Given the description of an element on the screen output the (x, y) to click on. 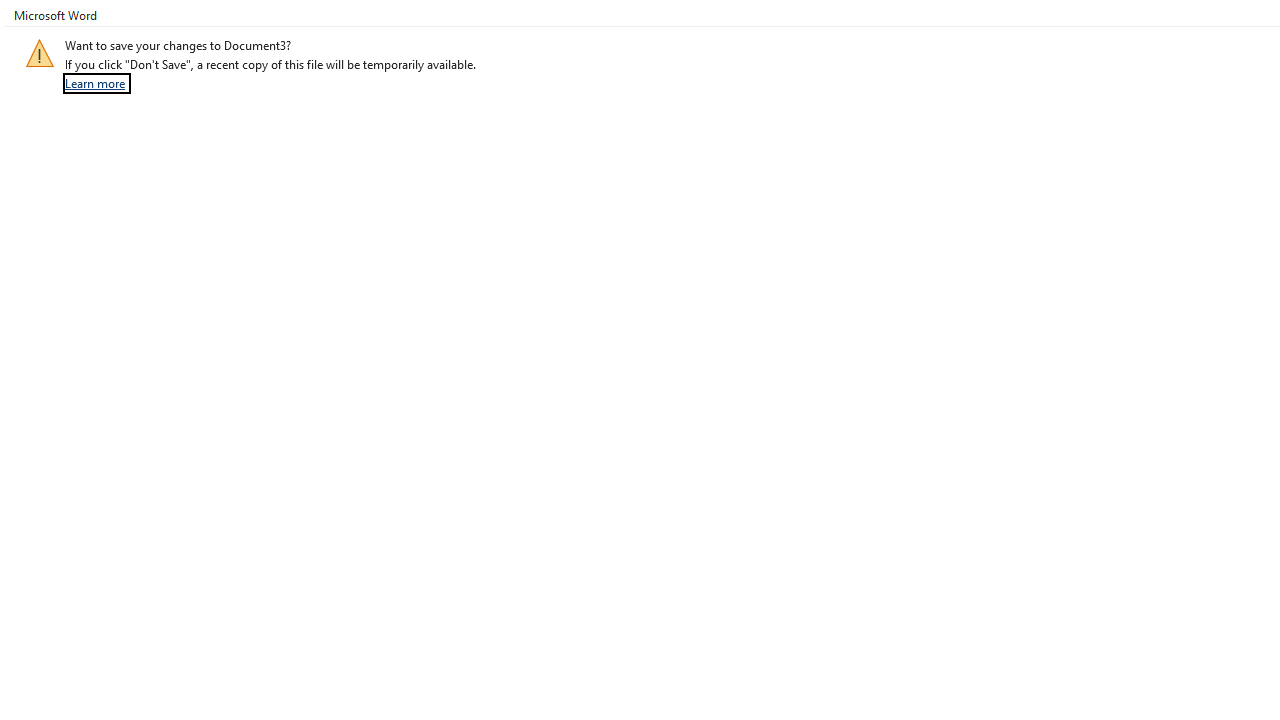
Learn more (97, 83)
